Given the description of an element on the screen output the (x, y) to click on. 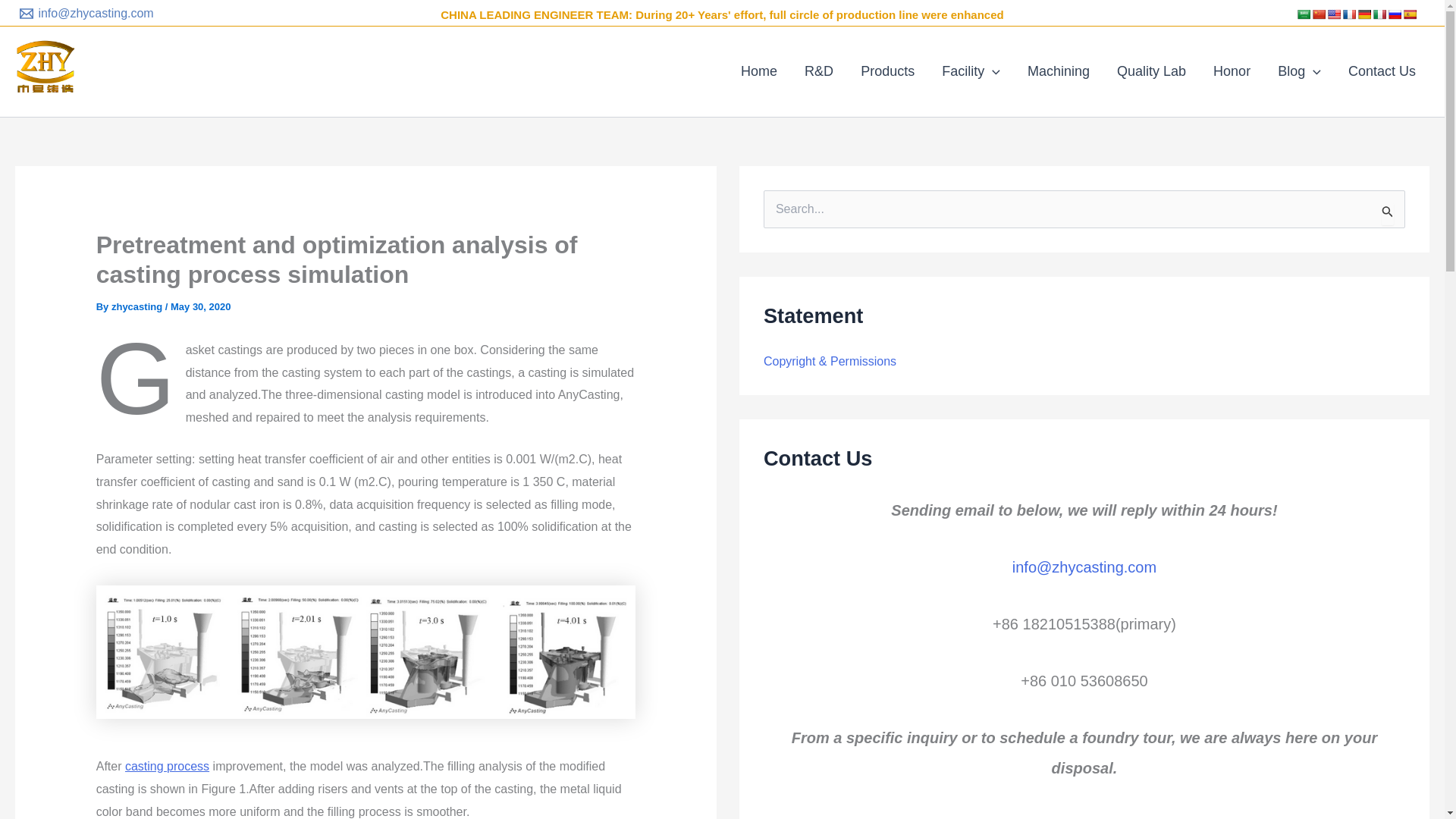
View all posts by zhycasting (138, 306)
Facility (970, 71)
Italian (1379, 14)
Machining (1058, 71)
English (1333, 14)
Products (887, 71)
Russian (1393, 14)
Arabic (1303, 14)
Home (758, 71)
Contact Us (1382, 71)
